Given the description of an element on the screen output the (x, y) to click on. 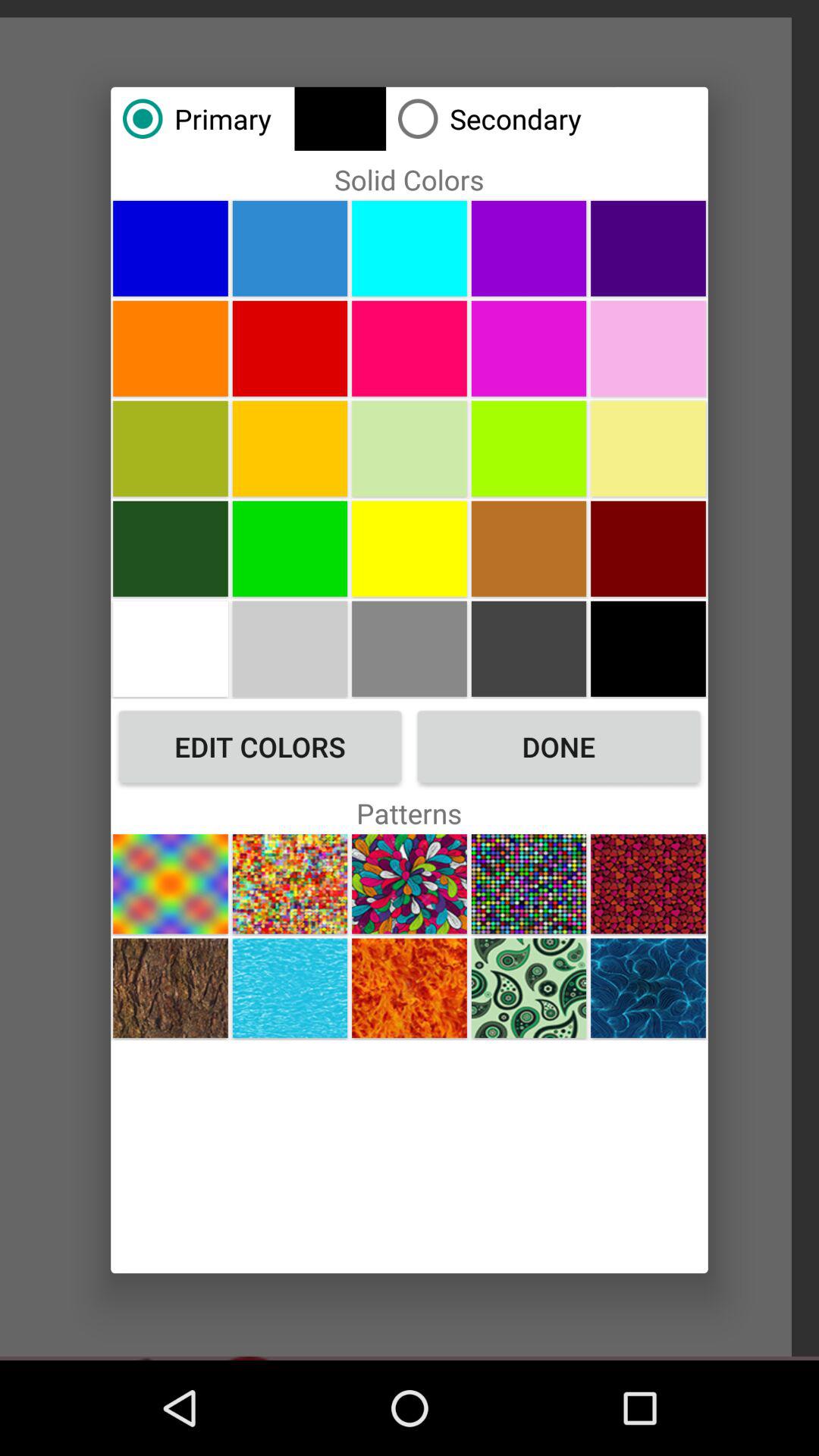
select this color (647, 548)
